Given the description of an element on the screen output the (x, y) to click on. 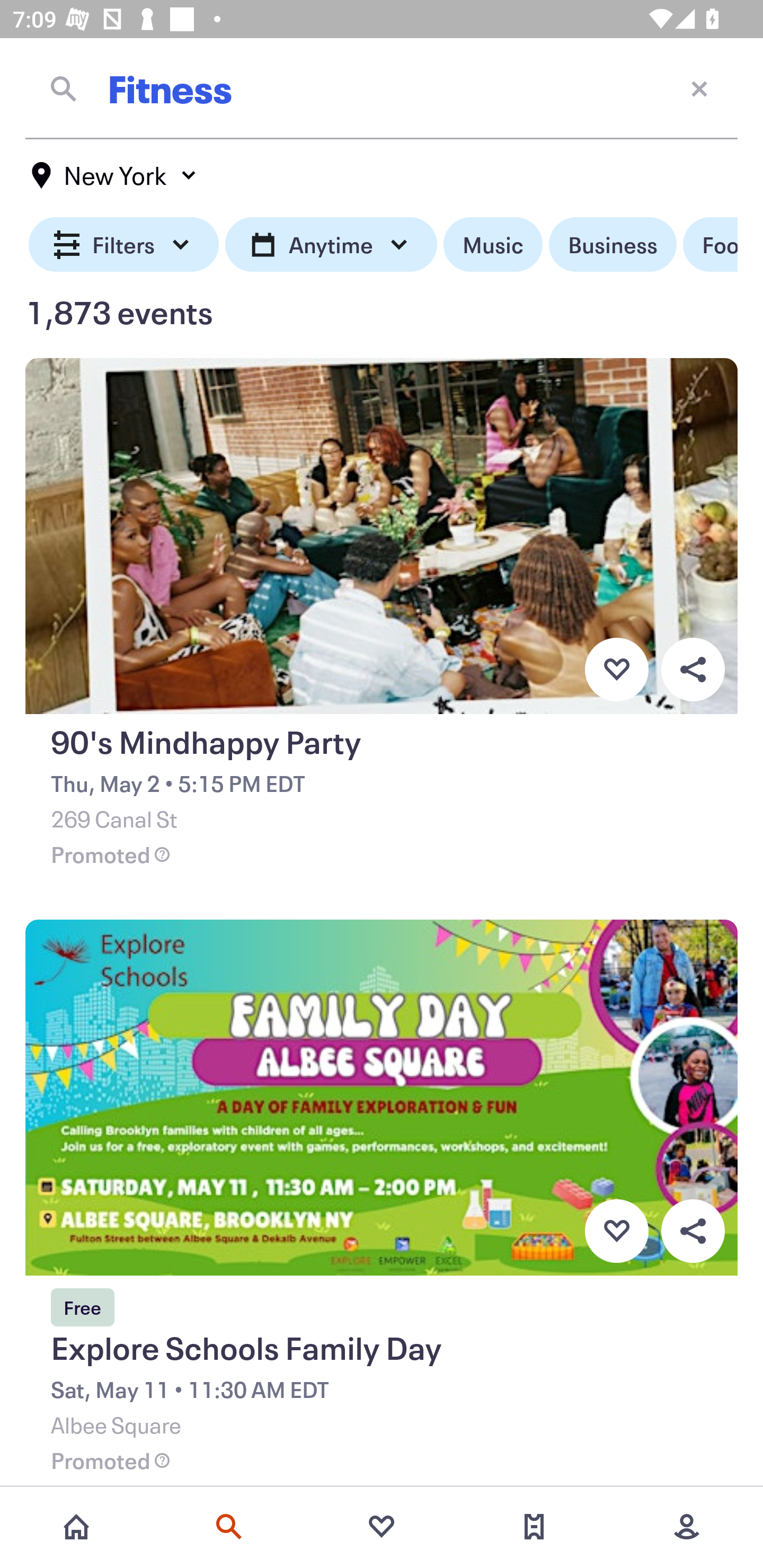
Fitness Close current screen (381, 88)
Close current screen (699, 88)
New York (114, 175)
Filters (123, 244)
Anytime (331, 244)
Music (492, 244)
Business (612, 244)
Favorite button (616, 669)
Overflow menu button (692, 669)
Favorite button (616, 1230)
Overflow menu button (692, 1230)
Home (76, 1526)
Search events (228, 1526)
Favorites (381, 1526)
Tickets (533, 1526)
More (686, 1526)
